Given the description of an element on the screen output the (x, y) to click on. 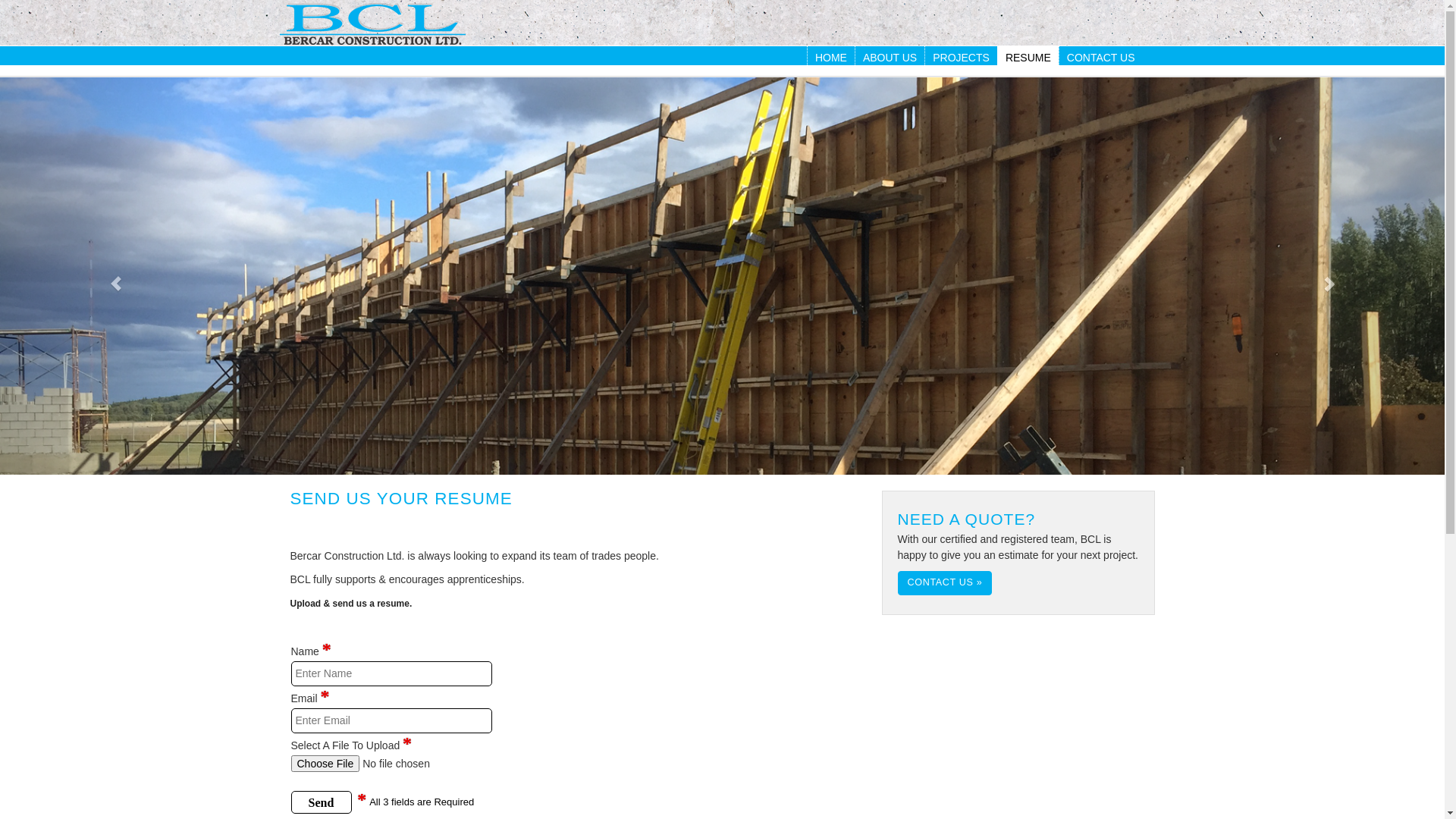
ABOUT US Element type: text (889, 57)
Send Element type: text (321, 801)
RESUME Element type: text (1028, 57)
CONTACT US Element type: text (1100, 57)
HOME Element type: text (831, 57)
PROJECTS Element type: text (960, 57)
